Given the description of an element on the screen output the (x, y) to click on. 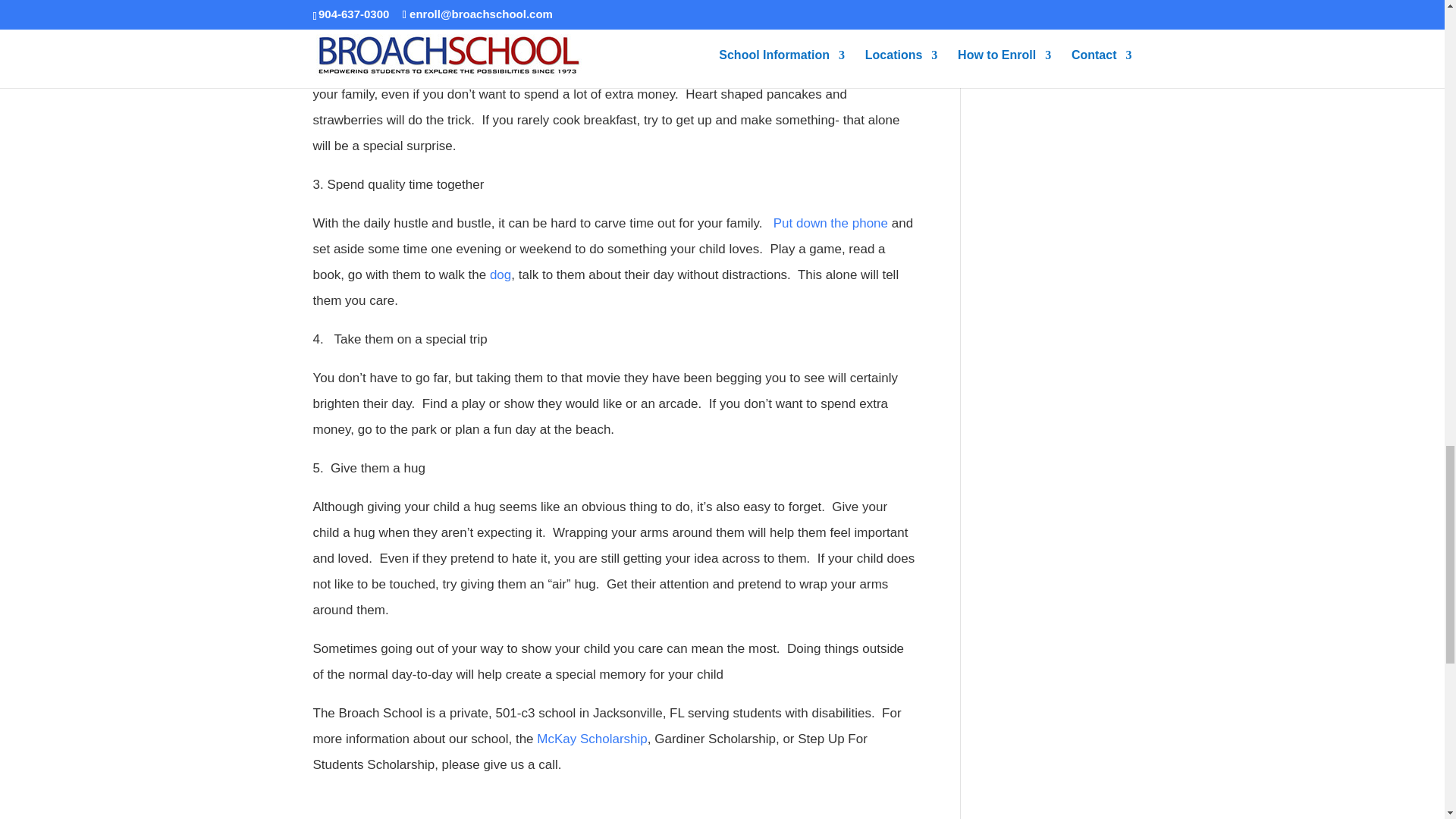
Put down the phone (830, 223)
McKay Scholarship (592, 739)
dog (500, 274)
Plan a special meal (386, 5)
